Given the description of an element on the screen output the (x, y) to click on. 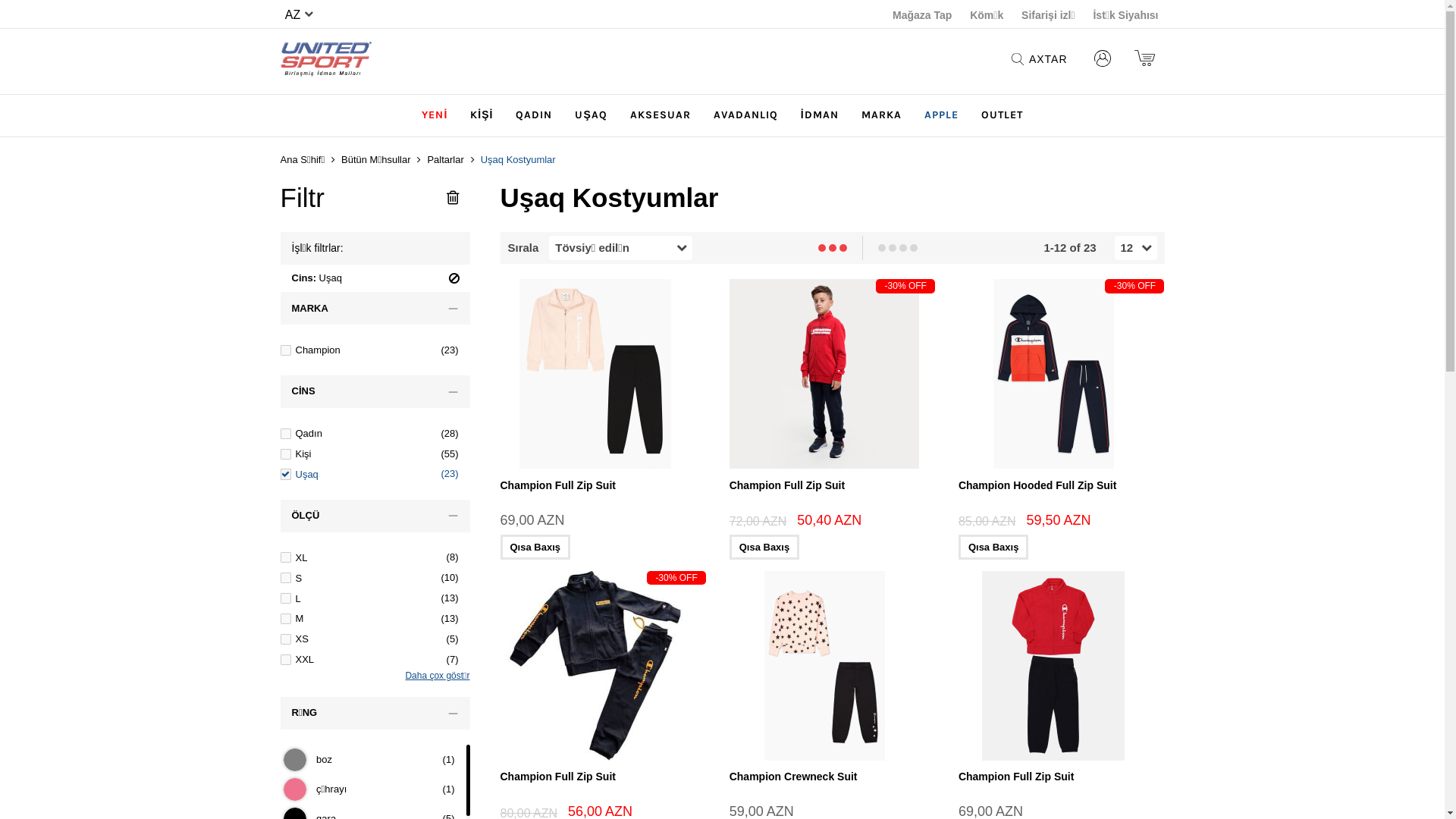
Champion Full Zip Suit Element type: text (557, 485)
Champion Full Zip Suit Element type: hover (1061, 671)
XXS Element type: text (375, 679)
MARKA Element type: text (881, 115)
XS
(5) Element type: text (375, 638)
Sign in Element type: hover (1102, 59)
Champion Crewneck Suit Element type: hover (832, 671)
Clear All Element type: hover (451, 197)
APPLE Element type: text (941, 115)
YENI Element type: text (434, 115)
Champion Full Zip Suit Element type: text (557, 776)
M
(13) Element type: text (375, 618)
L
(13) Element type: text (375, 598)
QADIN Element type: text (533, 115)
S
(10) Element type: text (375, 577)
Champion Full Zip Suit Element type: hover (603, 379)
Cart Element type: hover (1144, 59)
Paltarlar Element type: text (445, 159)
-30% OFF Element type: text (832, 379)
Home Element type: hover (325, 61)
boz
(1) Element type: text (373, 759)
OUTLET Element type: text (1001, 115)
AKSESUAR Element type: text (660, 115)
Remove This Item Element type: hover (458, 277)
AVADANLIQ Element type: text (745, 115)
Champion Full Zip Suit Element type: text (786, 485)
boz (1) Element type: hover (294, 759)
-30% OFF Element type: text (1061, 379)
Champion Crewneck Suit Element type: text (793, 776)
Champion
(23) Element type: text (375, 349)
AXTAR Element type: text (1039, 59)
Champion Full Zip Suit Element type: text (1015, 776)
XL
(8) Element type: text (375, 557)
Champion Hooded Full Zip Suit Element type: text (1037, 485)
-30% OFF Element type: text (603, 671)
XXL
(7) Element type: text (375, 659)
